Given the description of an element on the screen output the (x, y) to click on. 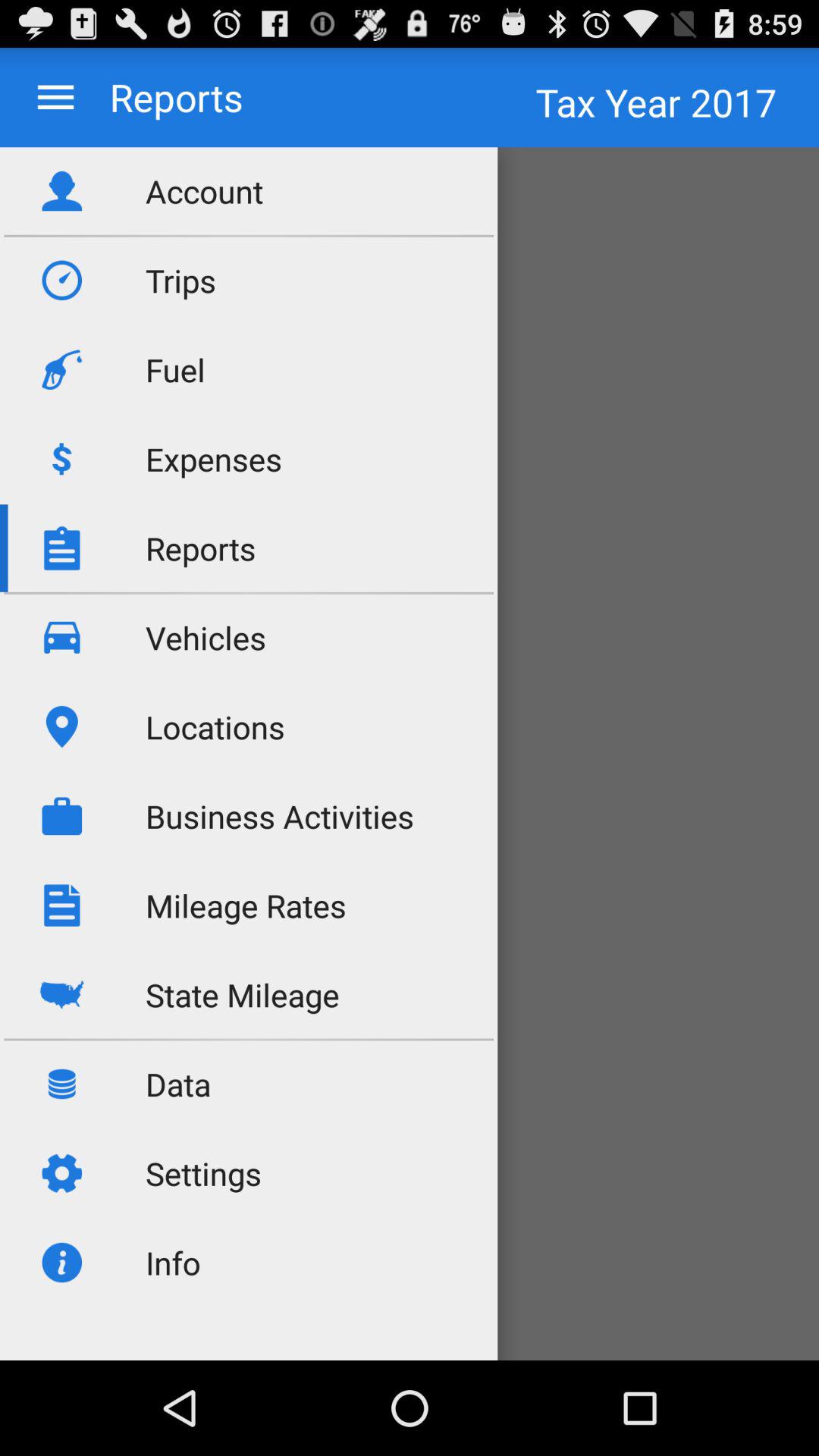
choose expenses app (213, 458)
